Given the description of an element on the screen output the (x, y) to click on. 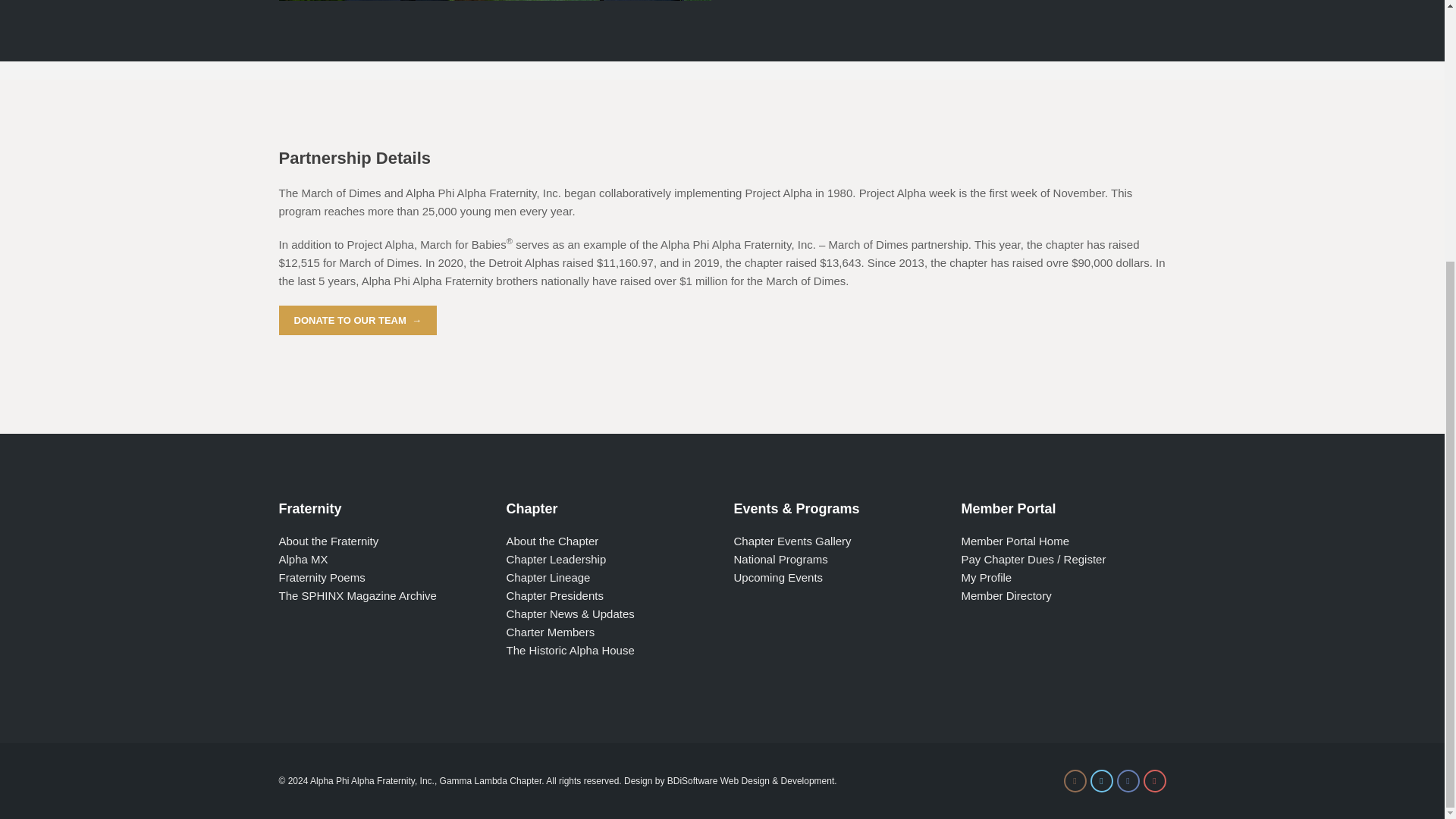
Charter Members (550, 631)
The Historic Alpha House (570, 649)
Chapter Lineage (548, 576)
National Programs (780, 558)
About the Chapter (552, 540)
Chapter Leadership (556, 558)
Chapter Presidents (555, 594)
Alpha MX (304, 558)
The SPHINX Magazine Archive (357, 594)
About the Fraternity (328, 540)
Fraternity Poems (322, 576)
Chapter Events Gallery (792, 540)
